Given the description of an element on the screen output the (x, y) to click on. 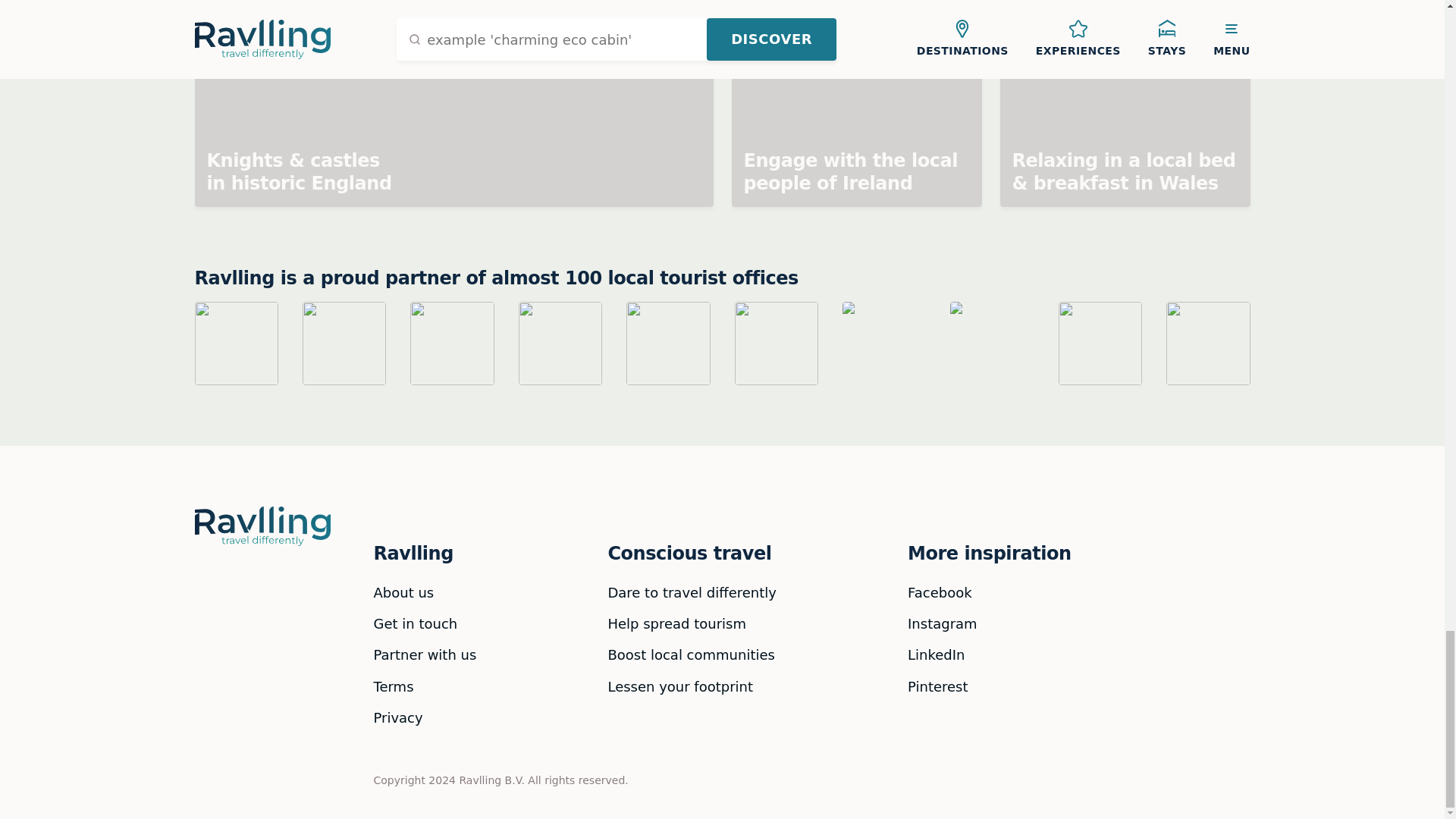
Engage with the local people of Ireland (855, 103)
